Given the description of an element on the screen output the (x, y) to click on. 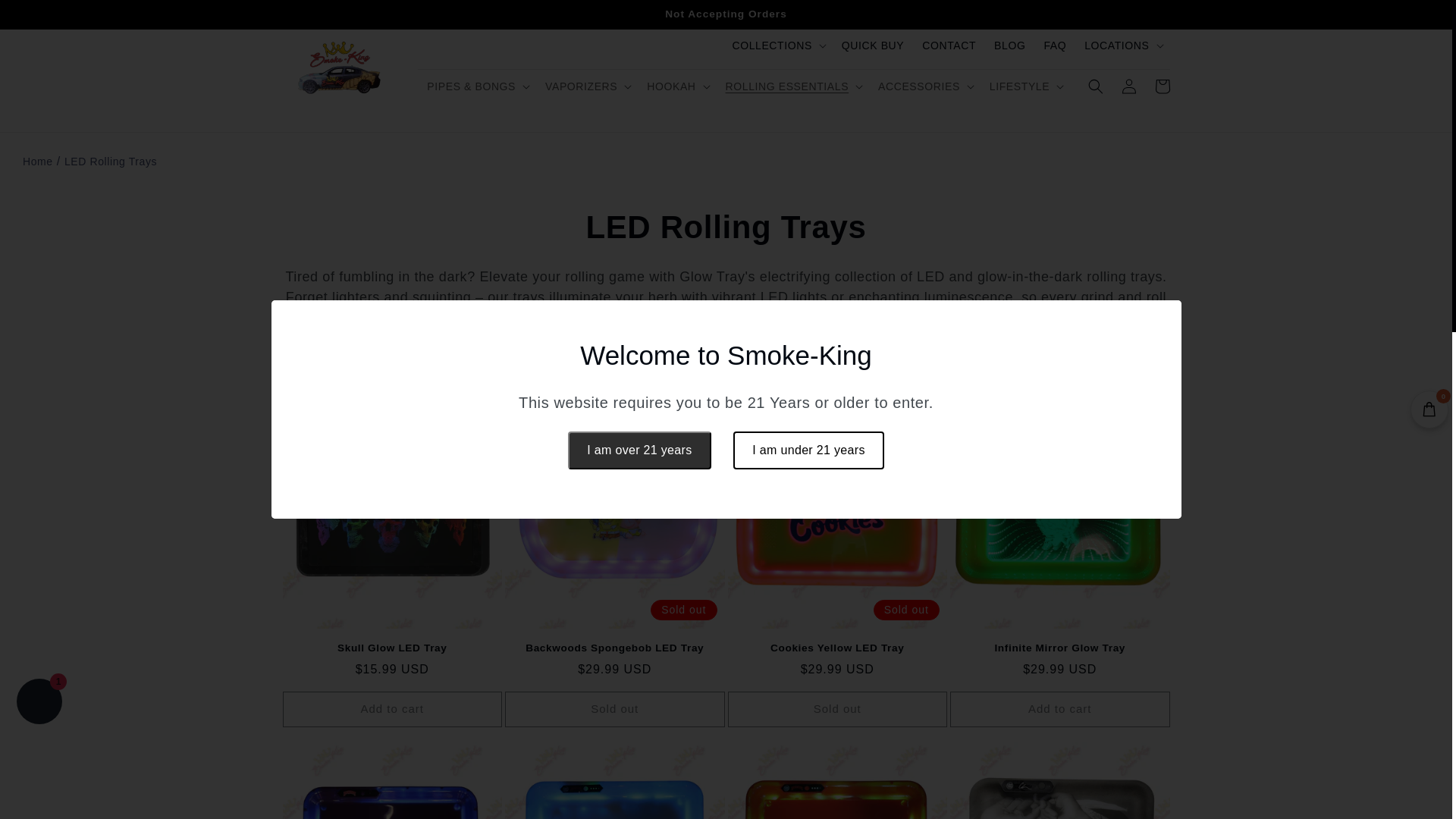
Shopify online store chat (38, 703)
Skip to content (45, 17)
Home (37, 161)
